Given the description of an element on the screen output the (x, y) to click on. 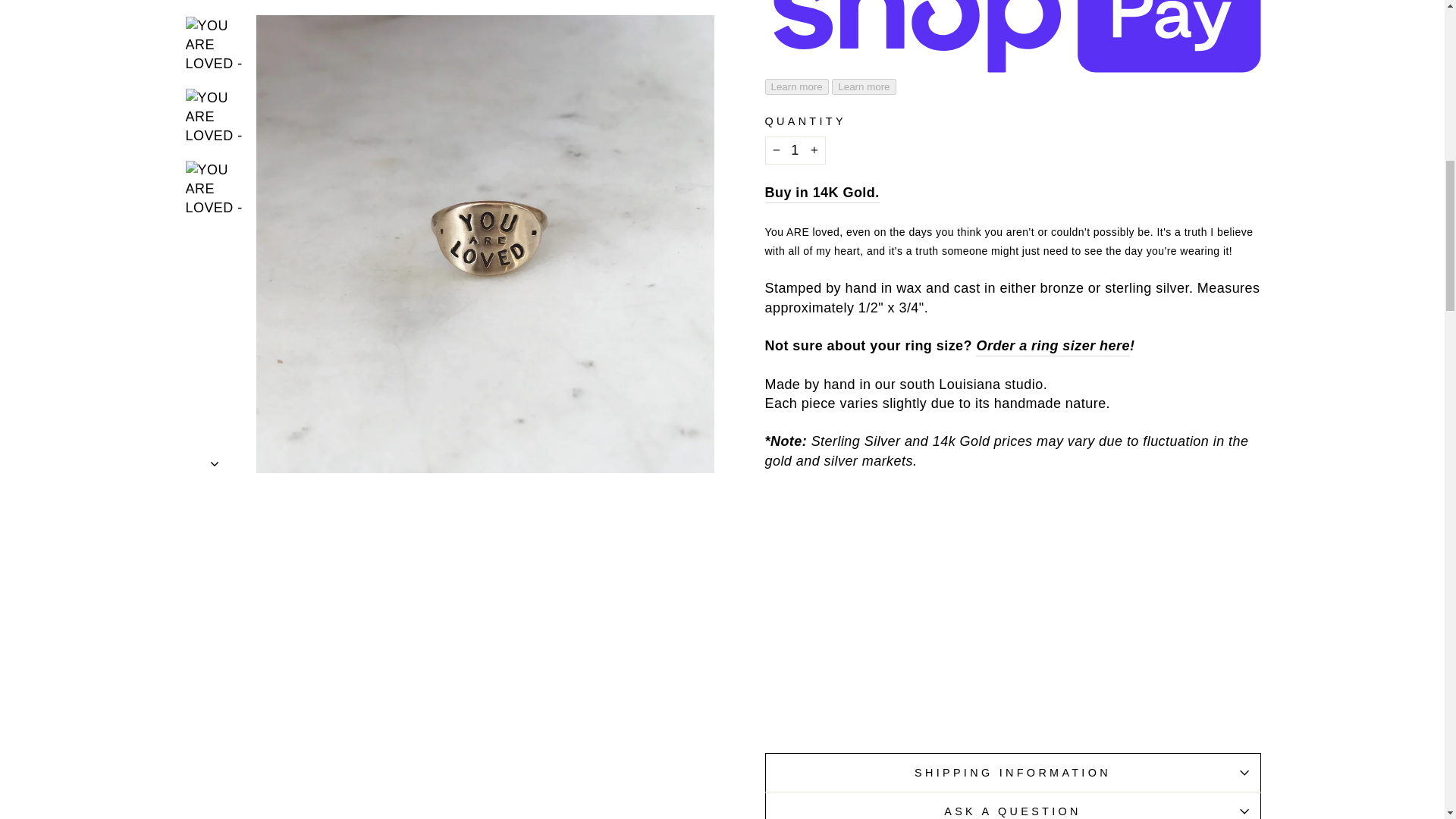
1 (794, 150)
Ring Sizer (1112, 346)
icon-chevron (214, 22)
Inquire About This Piece In 14K Gold (821, 193)
Ring Sizer (1034, 346)
YouTube video player (976, 608)
